Given the description of an element on the screen output the (x, y) to click on. 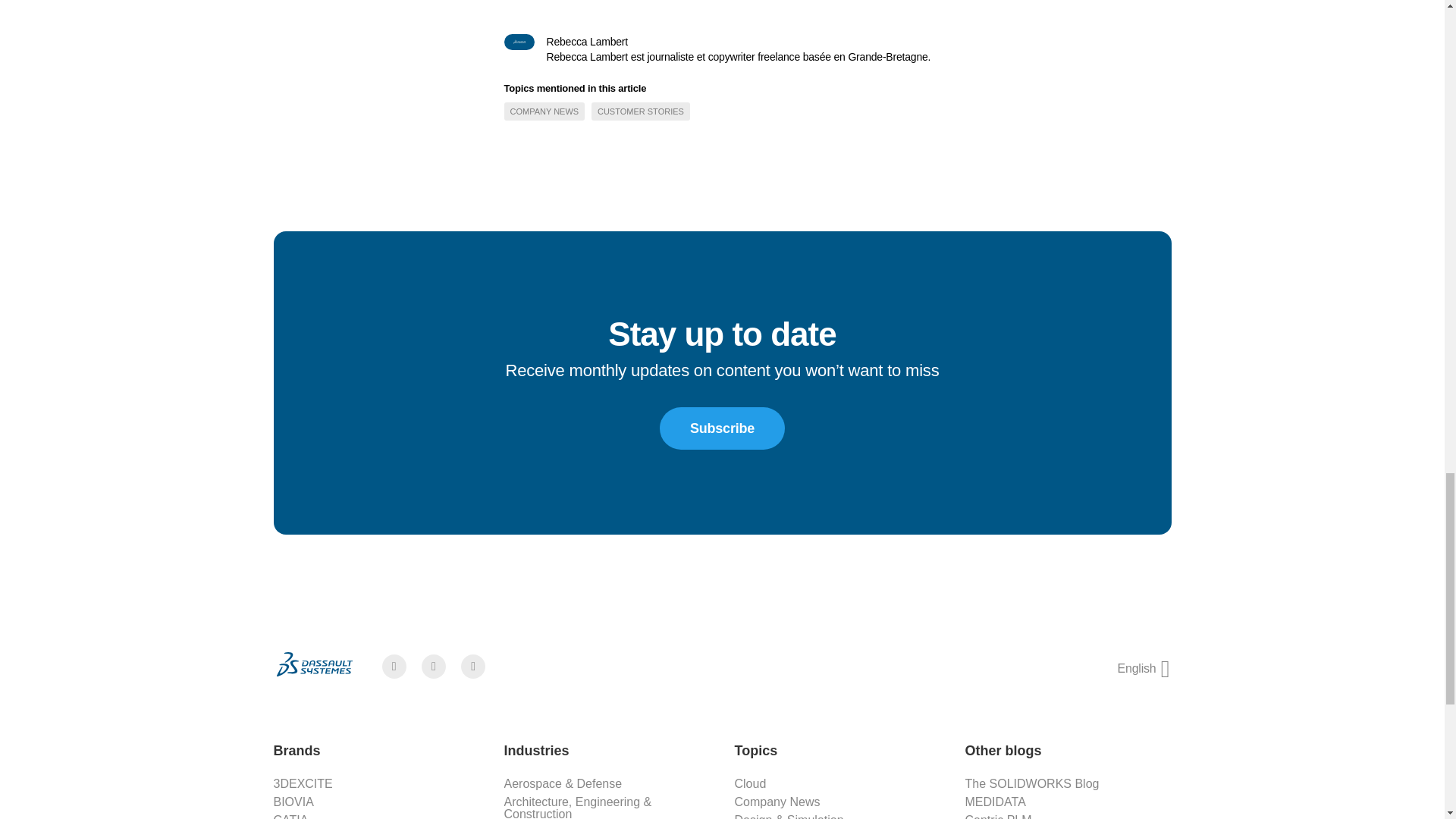
Facebook account (393, 667)
Linkedin account (472, 667)
Twitter account (433, 667)
